Given the description of an element on the screen output the (x, y) to click on. 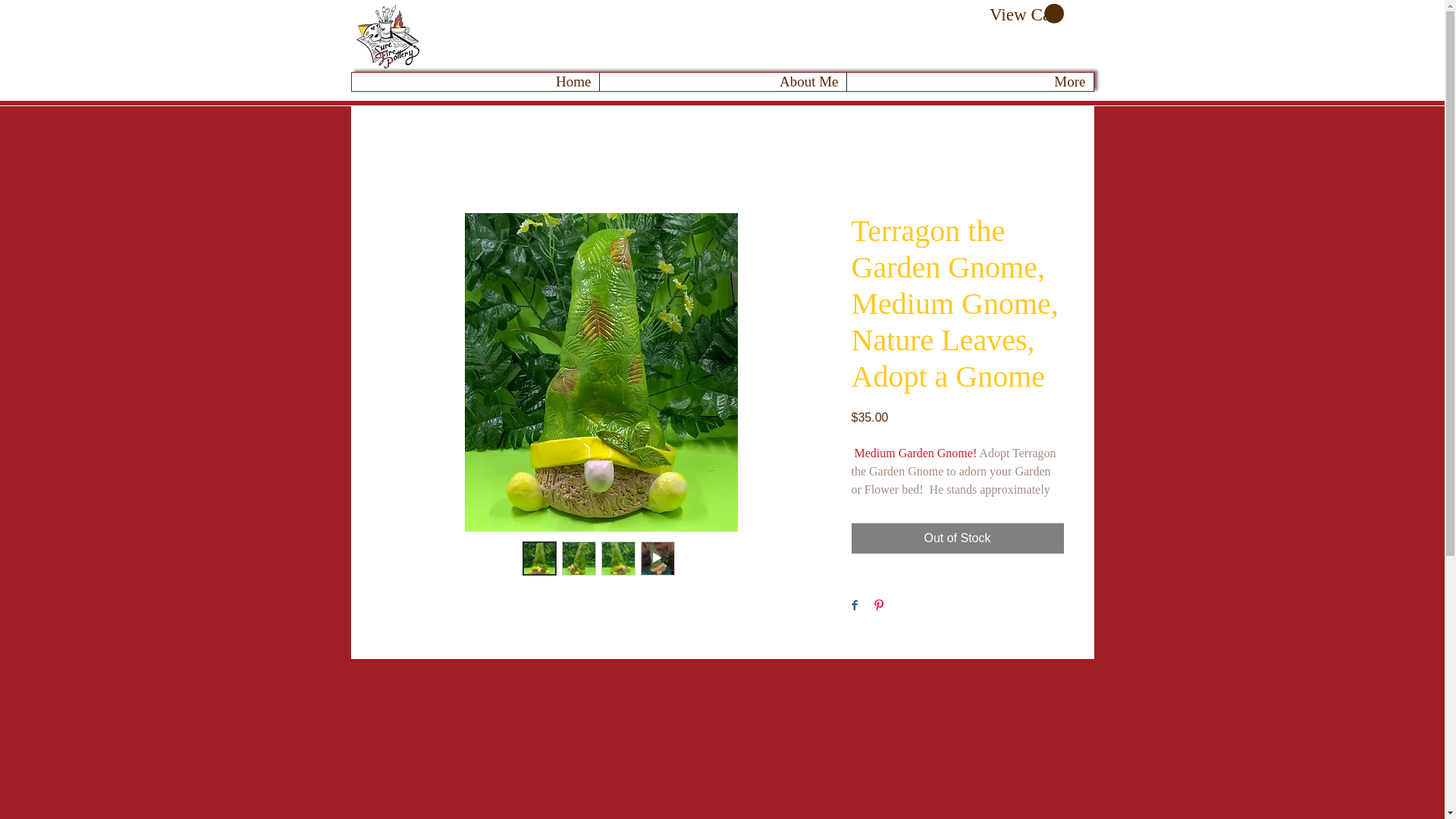
View Cart (1025, 14)
About Me (721, 81)
Out of Stock (956, 538)
View Cart (1025, 14)
Home (475, 81)
